Given the description of an element on the screen output the (x, y) to click on. 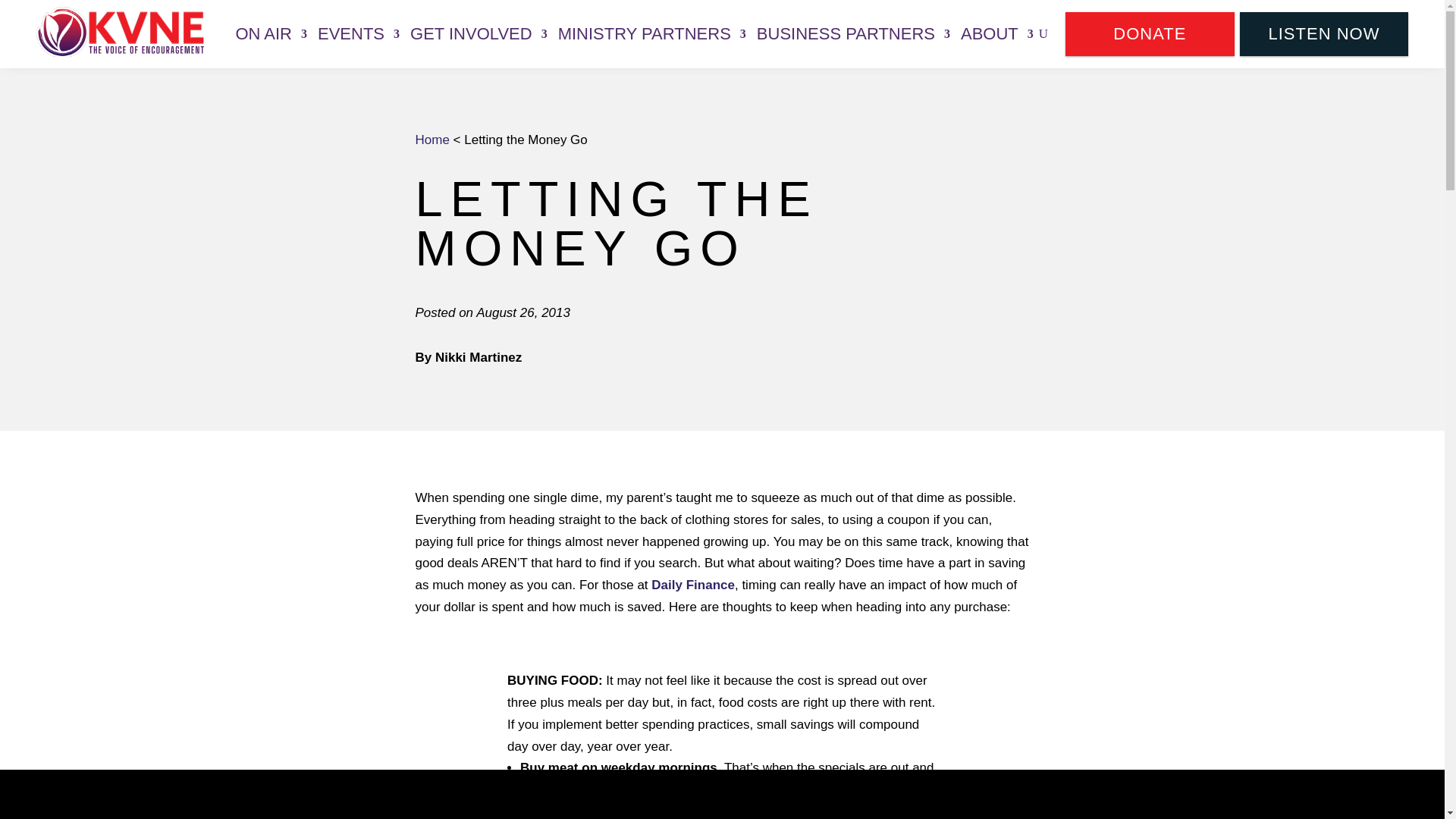
ON AIR (270, 33)
GET INVOLVED (478, 33)
ABOUT (996, 33)
Daily Finance (691, 585)
EVENTS (357, 33)
MINISTRY PARTNERS (651, 33)
BUSINESS PARTNERS (853, 33)
